Given the description of an element on the screen output the (x, y) to click on. 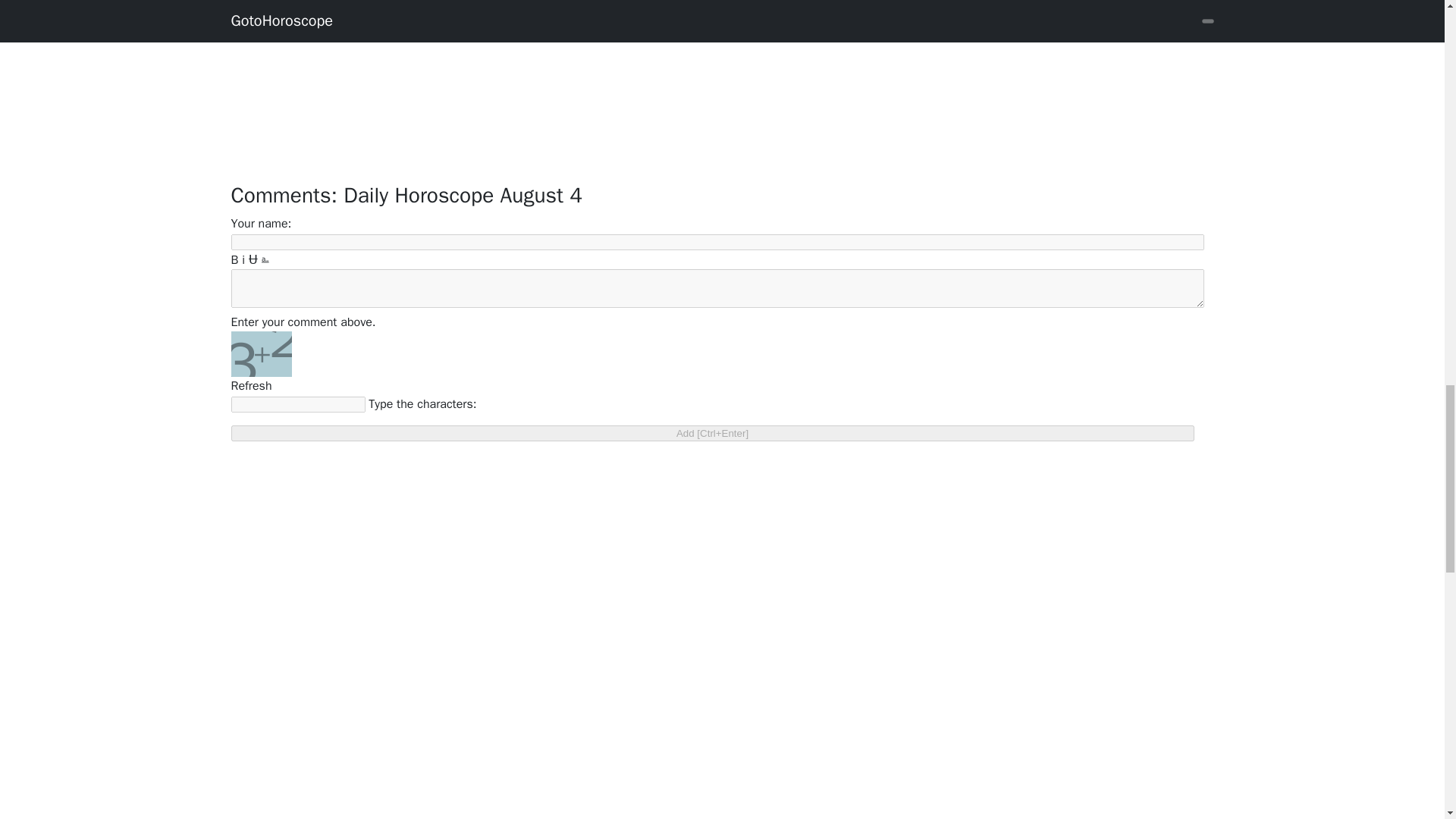
Refresh (250, 385)
